Given the description of an element on the screen output the (x, y) to click on. 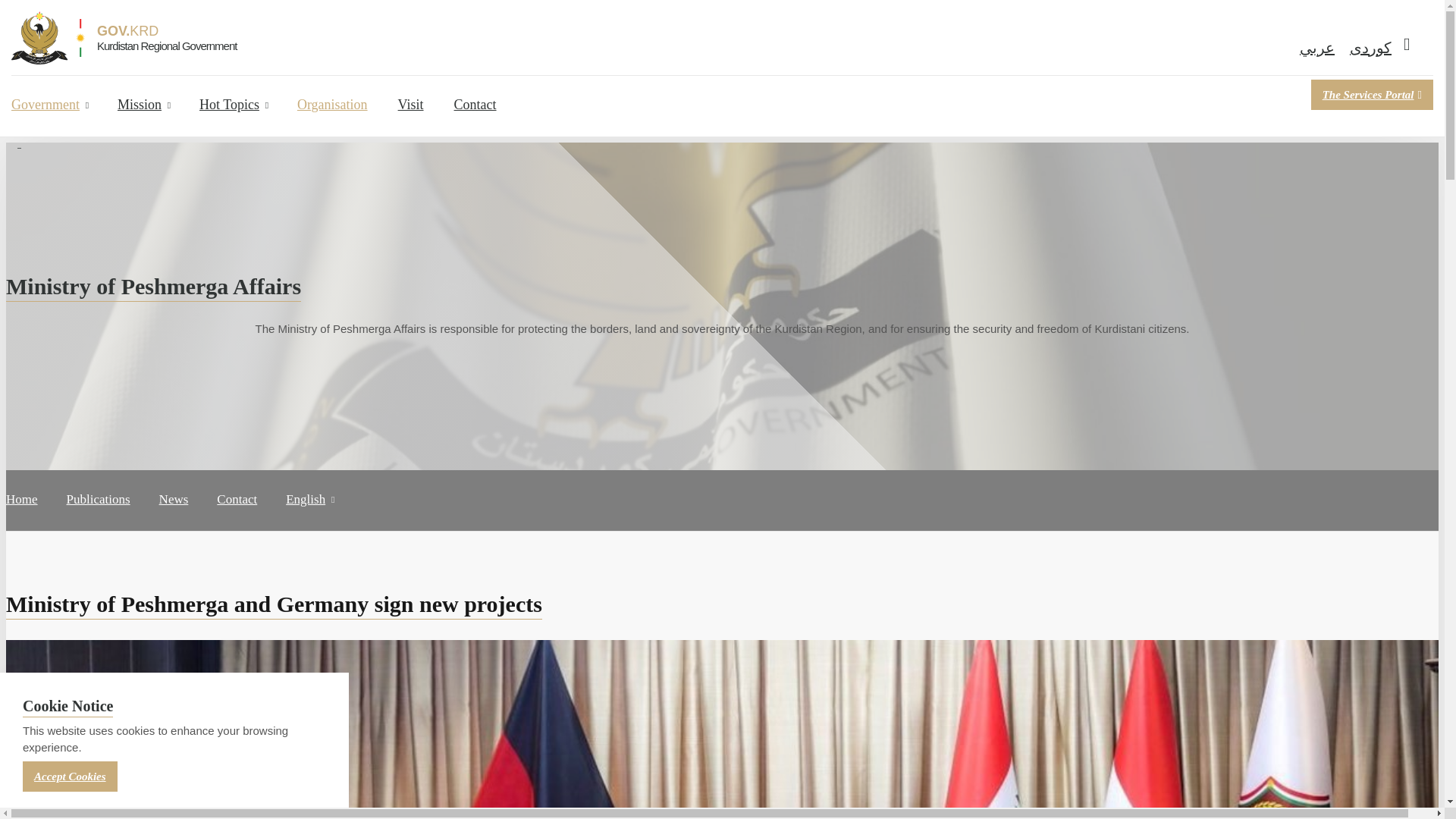
The Services Portal (1371, 94)
Hot Topics (233, 127)
Organisation (332, 127)
Publications (98, 521)
Publications (98, 521)
Skip to the content (722, 12)
